Given the description of an element on the screen output the (x, y) to click on. 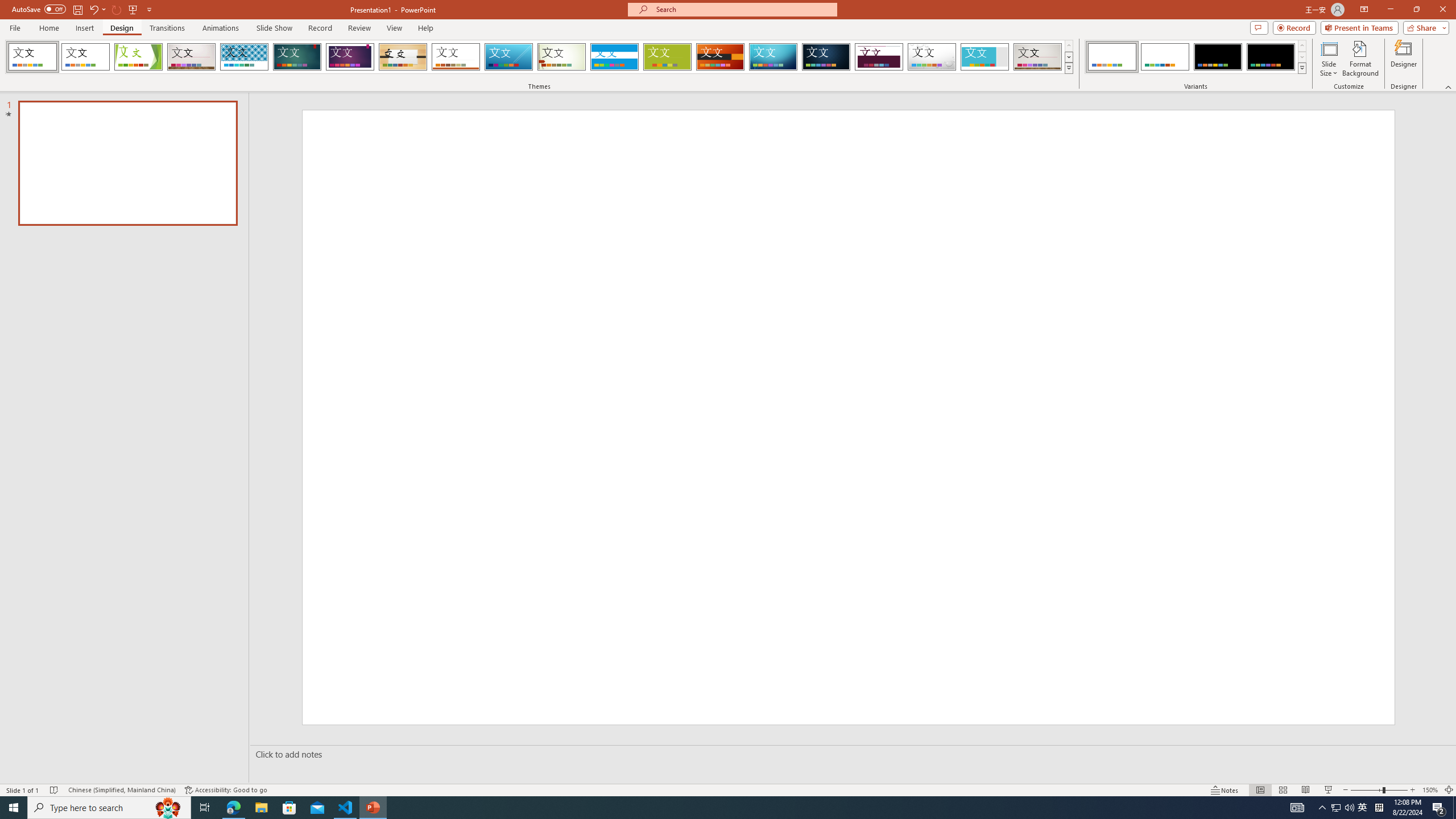
Office Theme Variant 4 (1270, 56)
Zoom 150% (1430, 790)
Dividend Loading Preview... (879, 56)
Retrospect Loading Preview... (455, 56)
Wisp Loading Preview... (561, 56)
Office Theme Variant 2 (1164, 56)
